Given the description of an element on the screen output the (x, y) to click on. 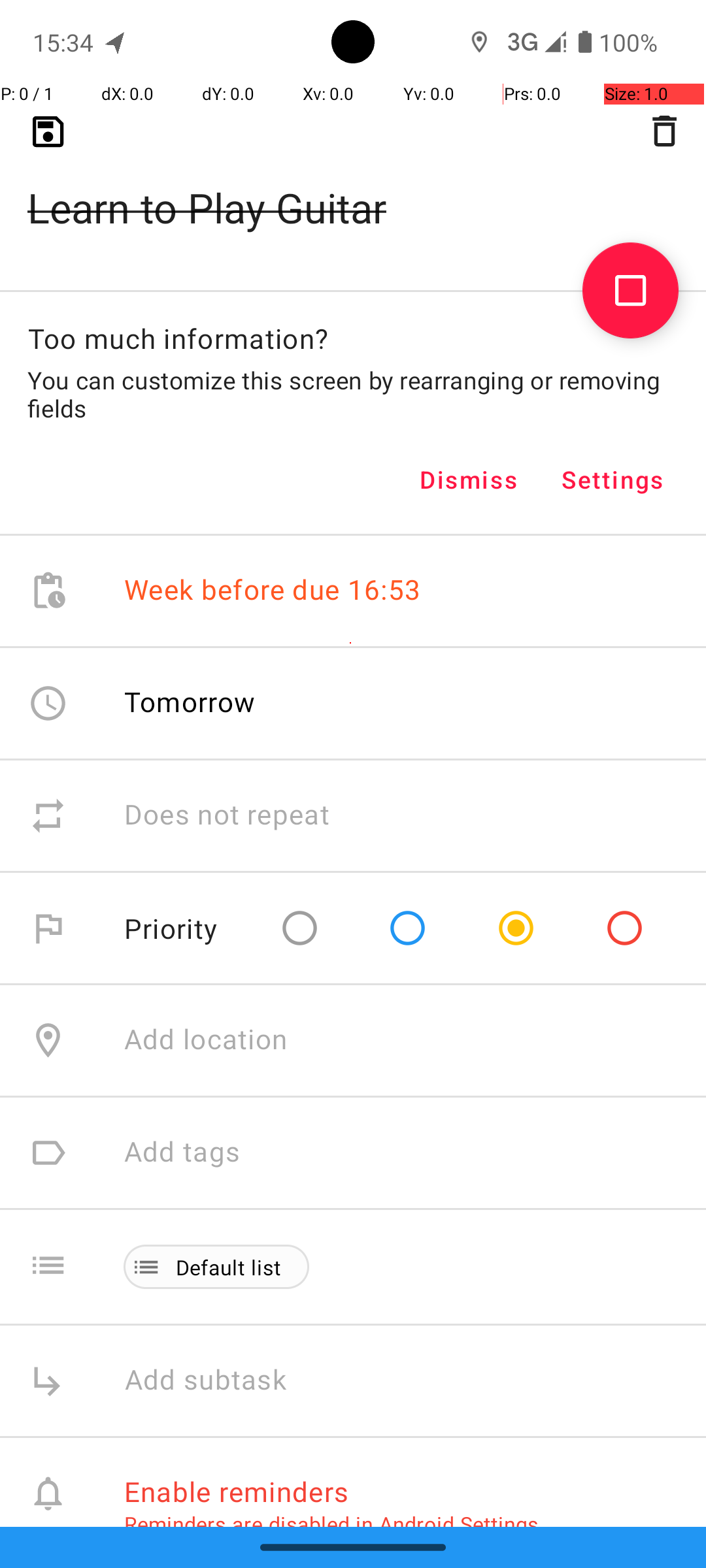
Week before due 16:53 Element type: android.widget.TextView (272, 590)
